Given the description of an element on the screen output the (x, y) to click on. 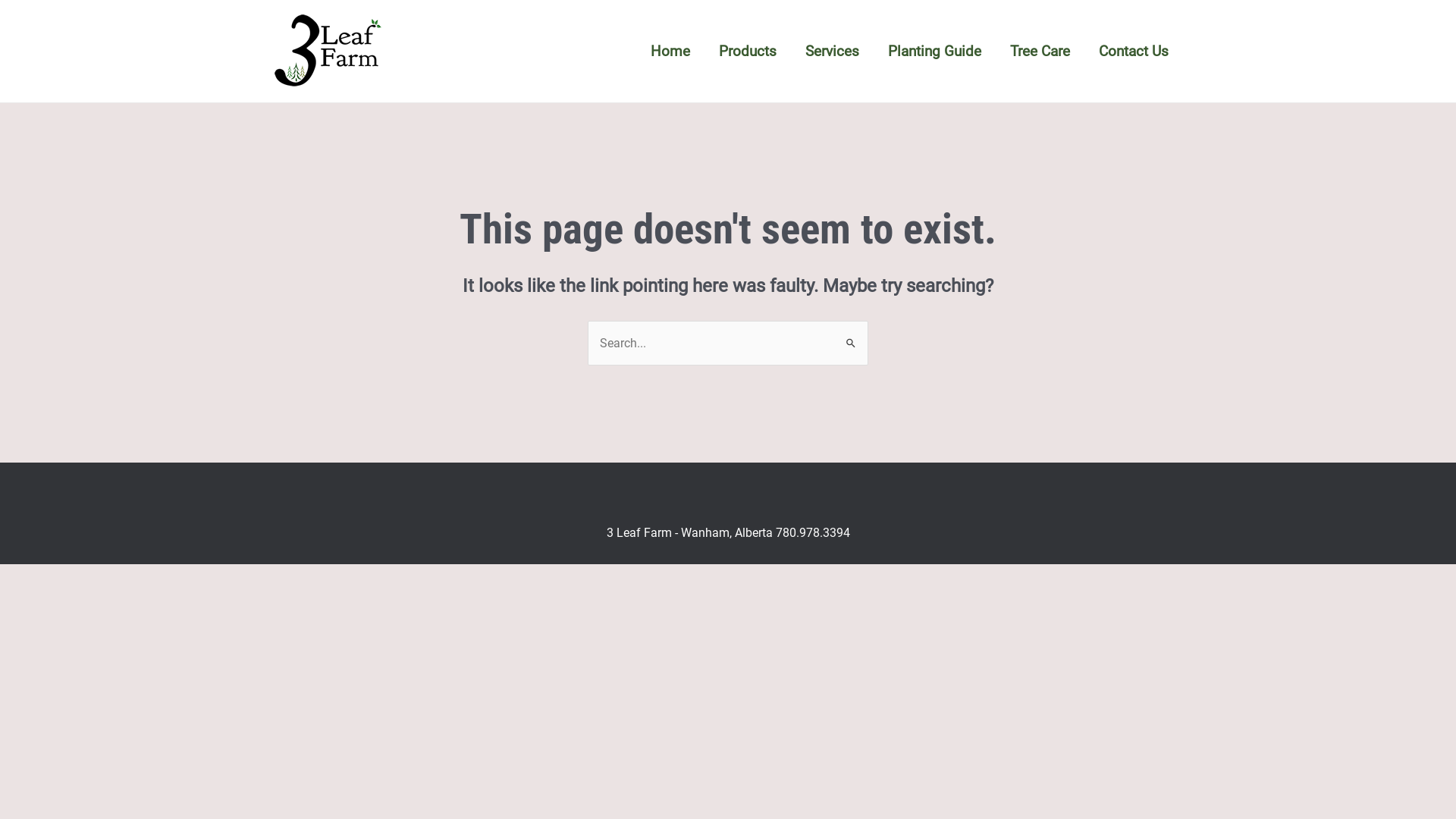
Search Element type: text (851, 335)
Tree Care Element type: text (1039, 50)
Home Element type: text (670, 50)
Products Element type: text (747, 50)
Contact Us Element type: text (1133, 50)
Services Element type: text (831, 50)
Planting Guide Element type: text (934, 50)
